Given the description of an element on the screen output the (x, y) to click on. 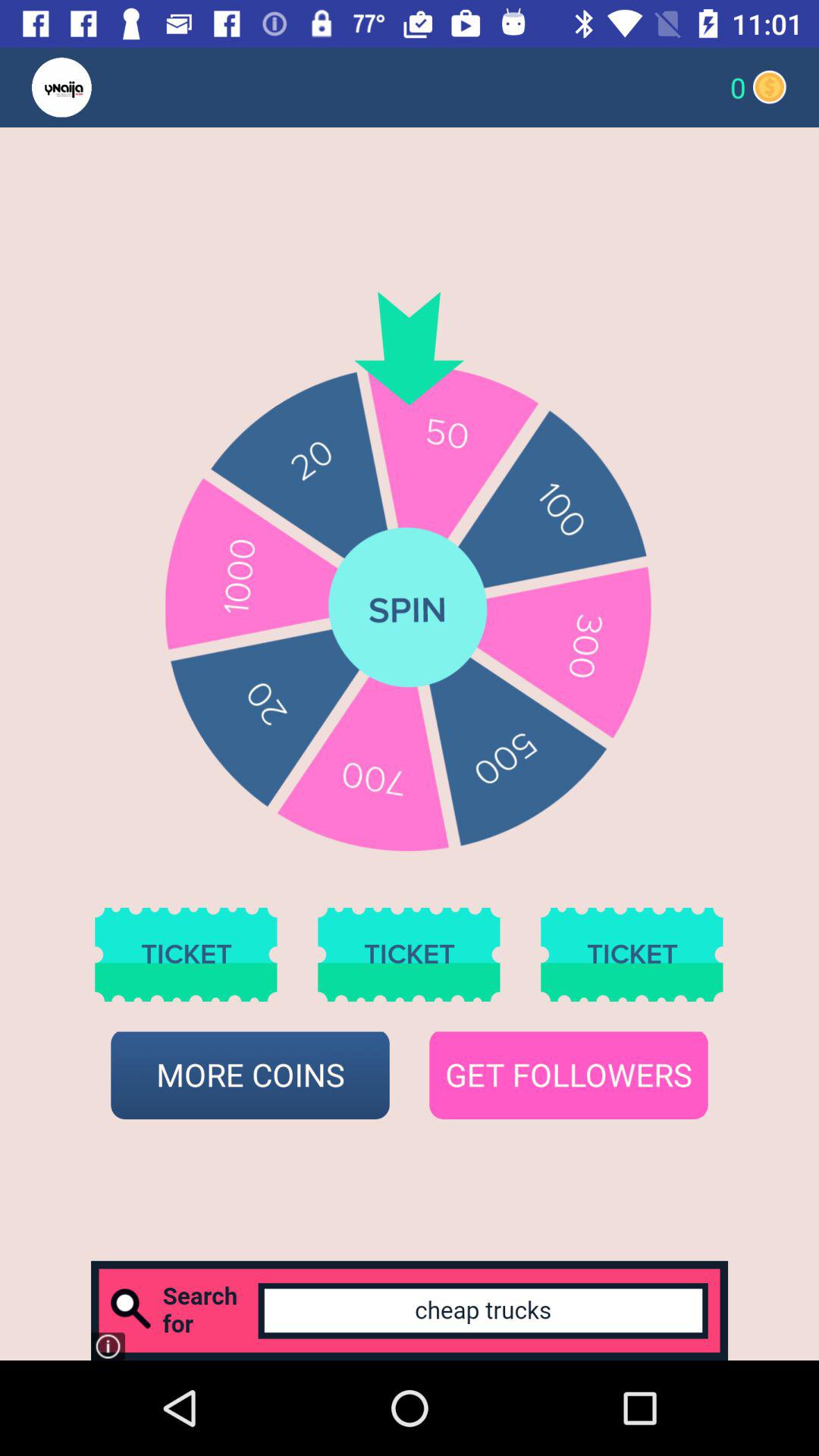
select item to the left of get followers icon (249, 1075)
